Given the description of an element on the screen output the (x, y) to click on. 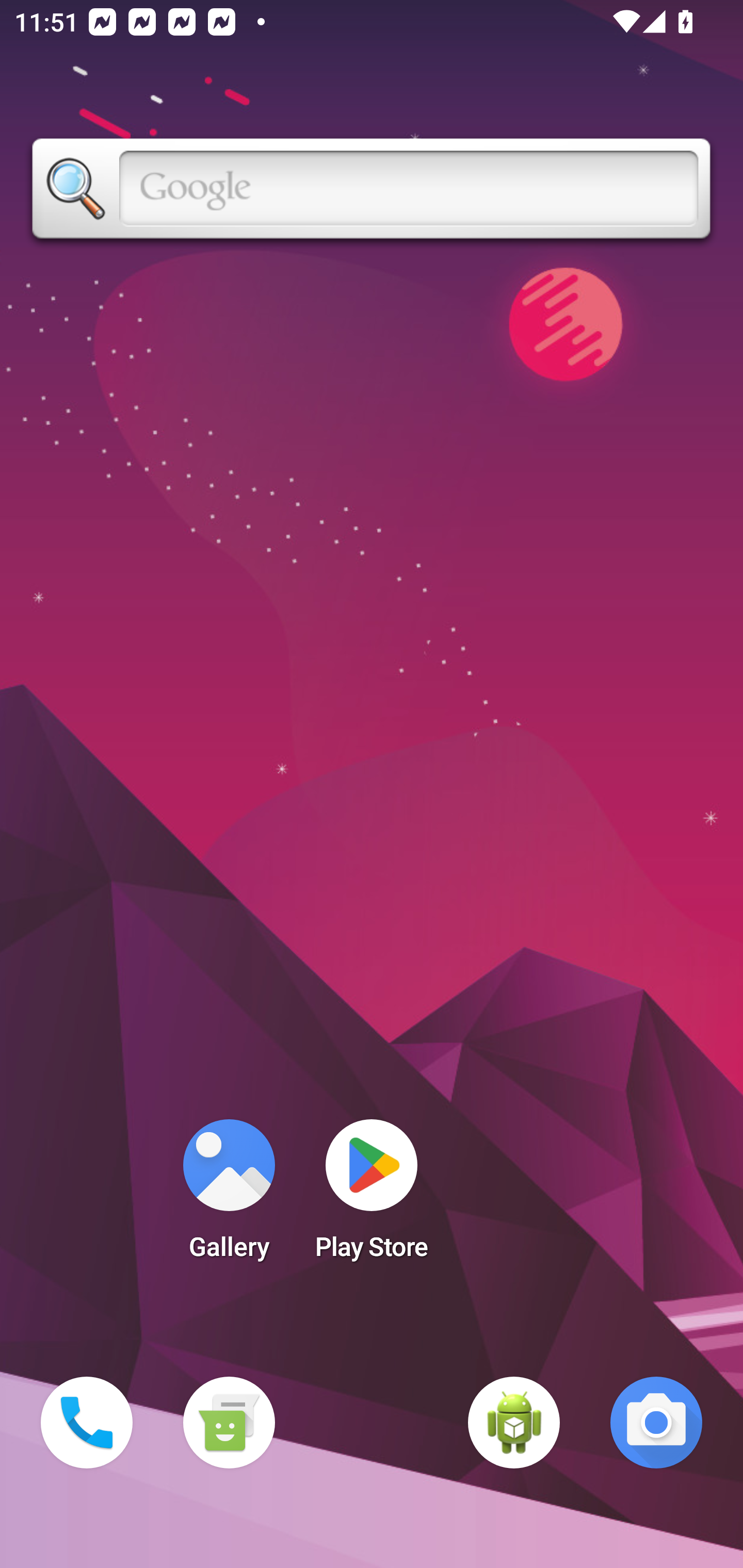
Gallery (228, 1195)
Play Store (371, 1195)
Phone (86, 1422)
Messaging (228, 1422)
WebView Browser Tester (513, 1422)
Camera (656, 1422)
